Given the description of an element on the screen output the (x, y) to click on. 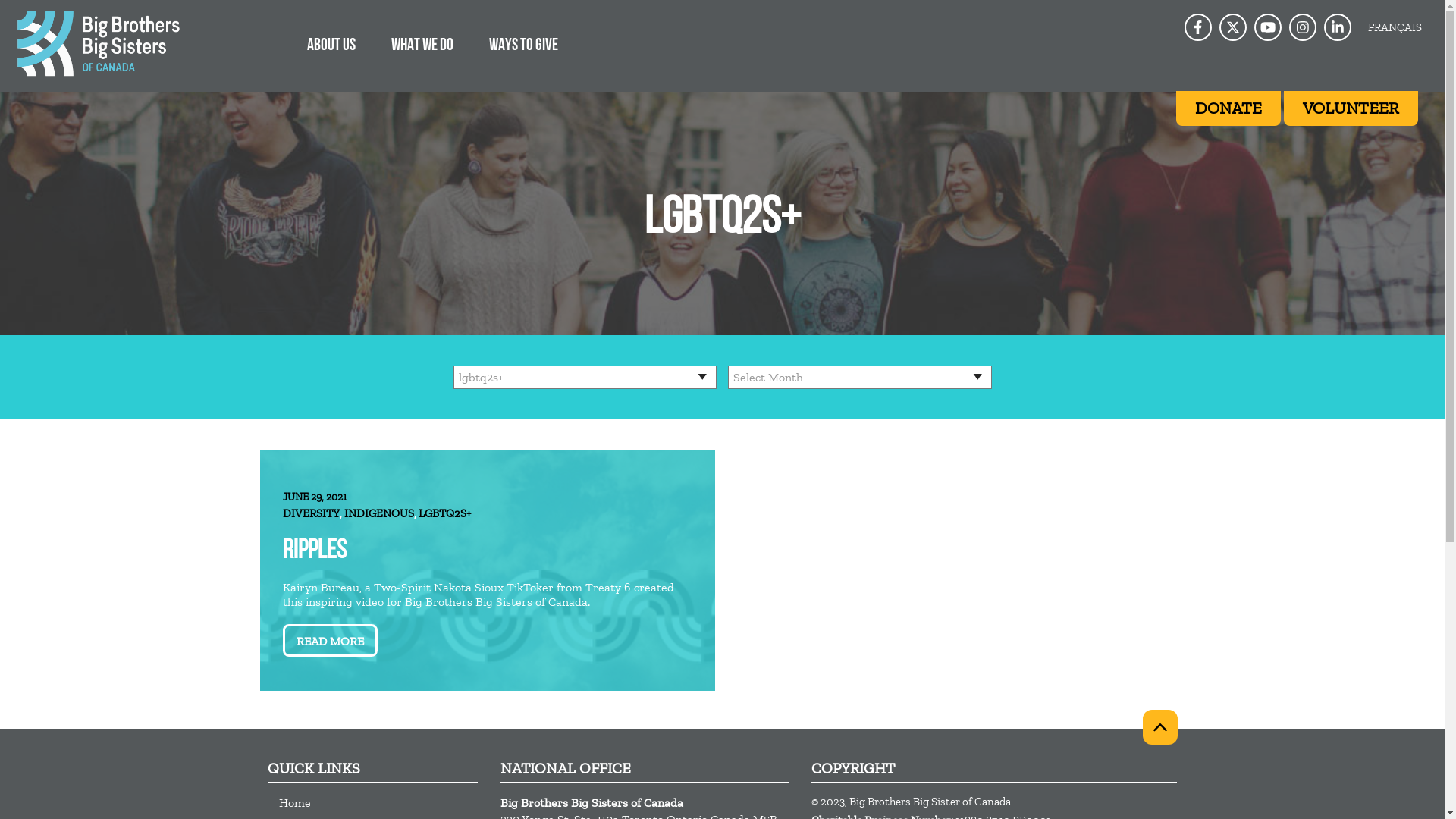
RIPPLES Element type: text (313, 555)
DONATE Element type: text (1228, 108)
WAYS TO GIVE Element type: text (523, 44)
LGBTQ2S+ Element type: text (444, 513)
READ MORE Element type: text (329, 639)
ABOUT US Element type: text (330, 44)
VOLUNTEER Element type: text (1350, 108)
INDIGENOUS Element type: text (379, 513)
WHAT WE DO Element type: text (422, 44)
DIVERSITY Element type: text (310, 513)
Home Element type: text (378, 802)
